Given the description of an element on the screen output the (x, y) to click on. 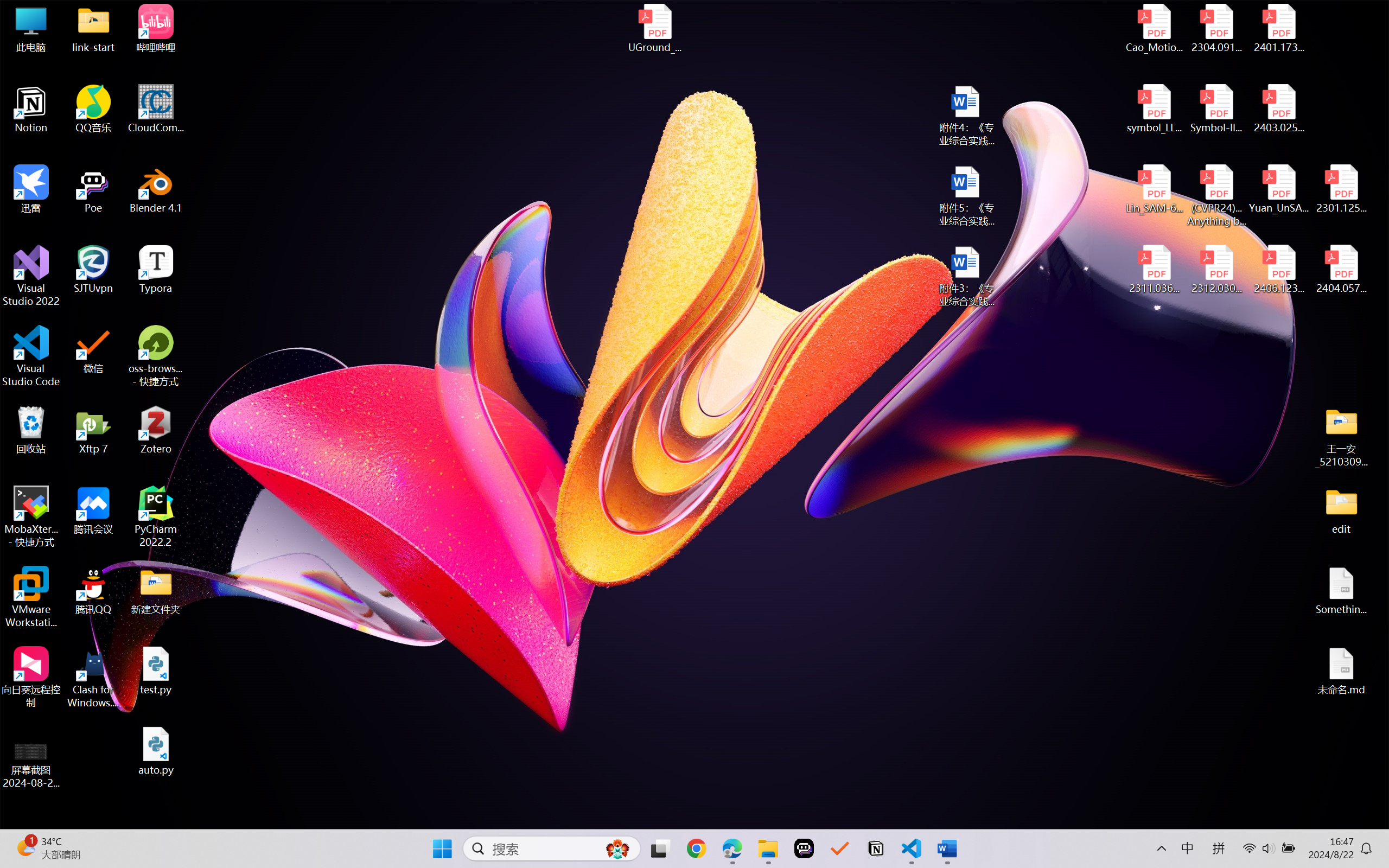
GitLens (26, 429)
Ink to Math (517, 97)
Ink Help (663, 97)
auto.py (696, 57)
Undo Apply Quick Style (158, 19)
